Given the description of an element on the screen output the (x, y) to click on. 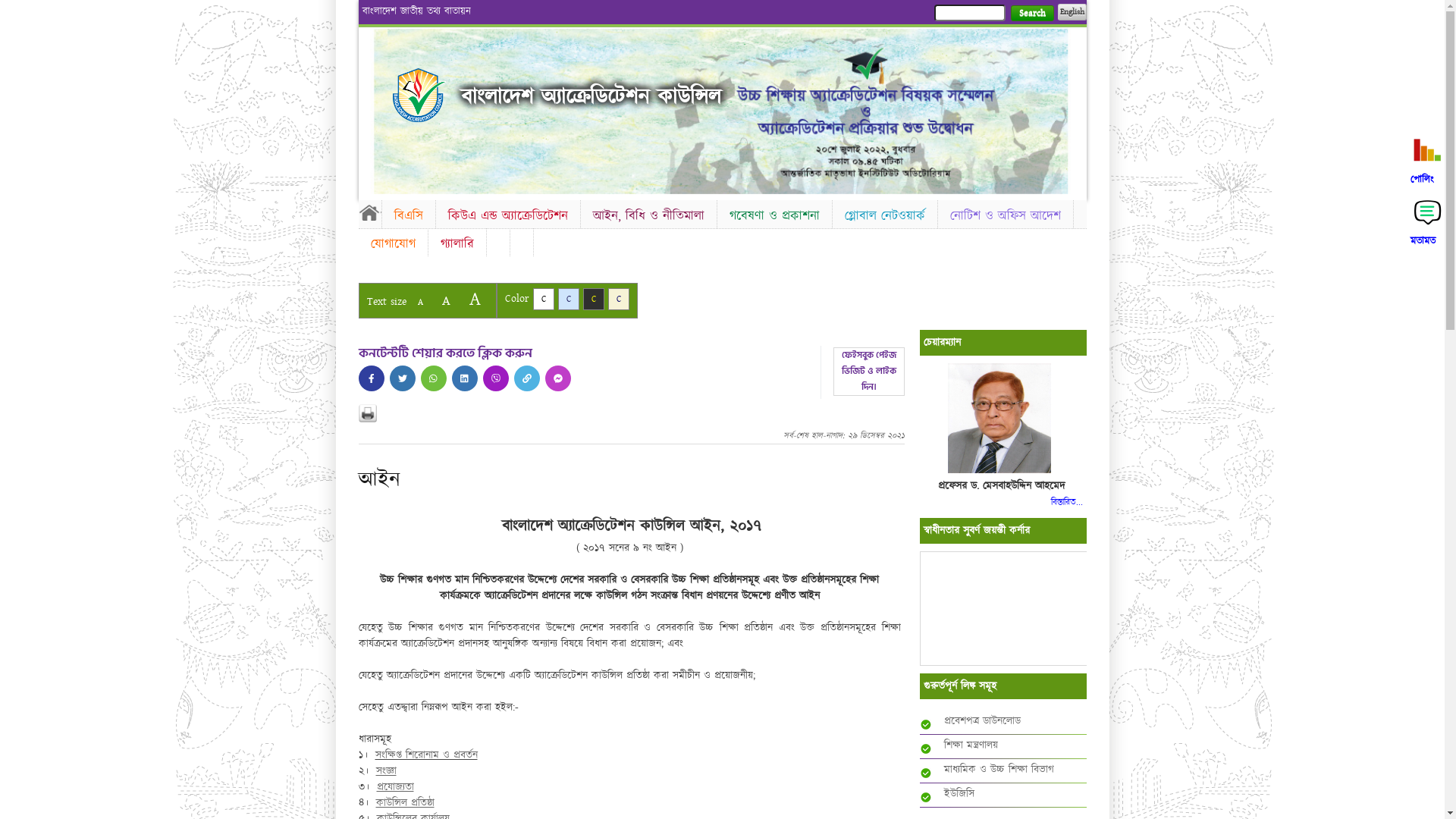
C Element type: text (592, 299)
English Element type: text (1071, 11)
Home Element type: hover (368, 211)
A Element type: text (445, 300)
Search Element type: text (1031, 13)
A Element type: text (474, 298)
A Element type: text (419, 301)
C Element type: text (568, 299)
C Element type: text (542, 299)
C Element type: text (618, 299)
Home Element type: hover (418, 95)
